Given the description of an element on the screen output the (x, y) to click on. 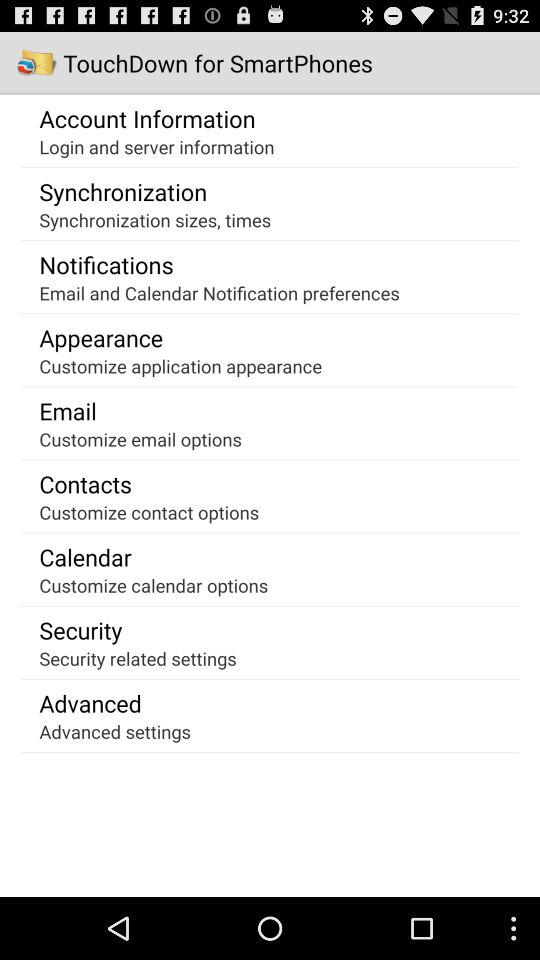
choose the icon below account information icon (156, 146)
